Given the description of an element on the screen output the (x, y) to click on. 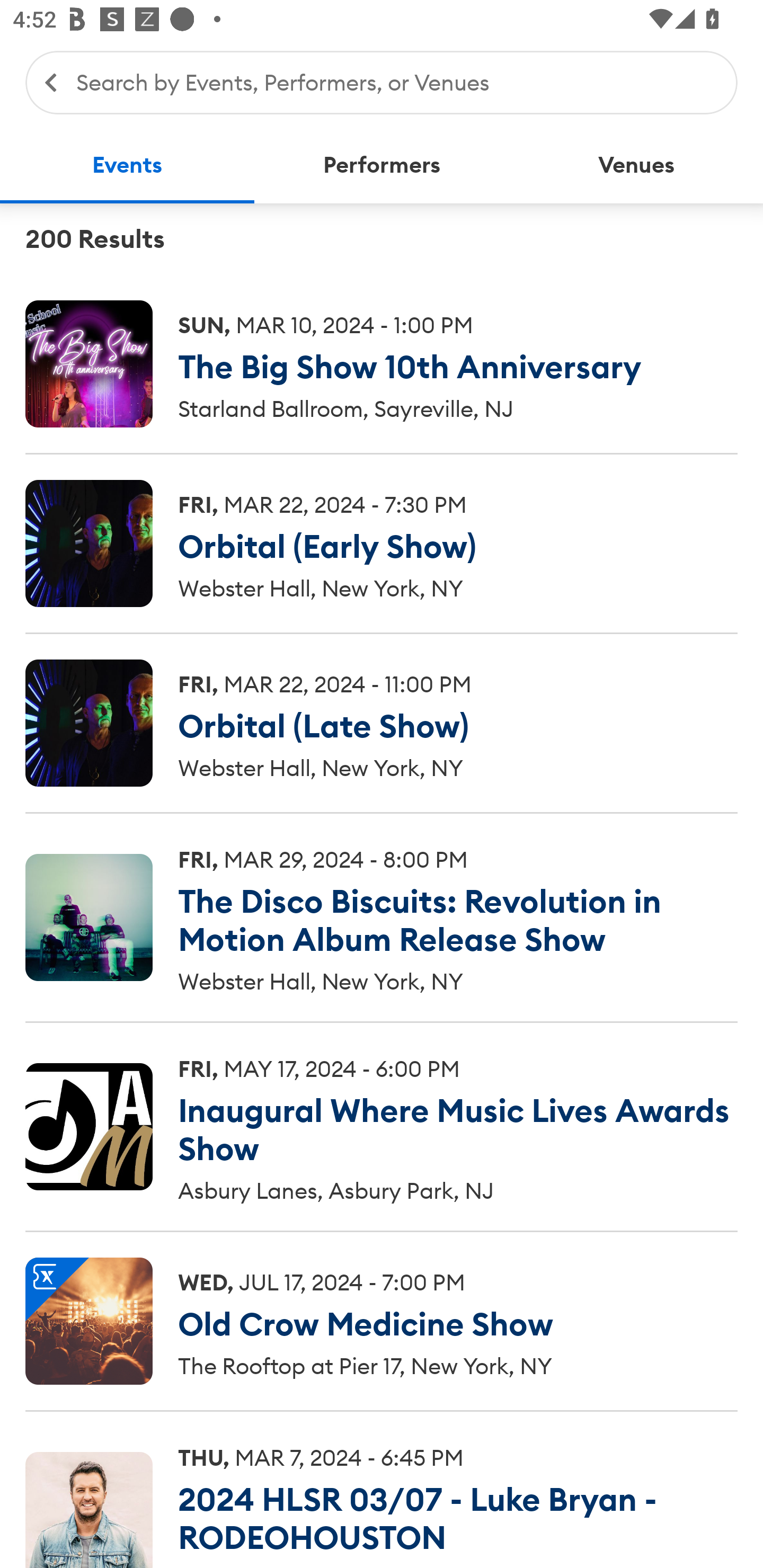
Performers (381, 165)
Venues (635, 165)
